Given the description of an element on the screen output the (x, y) to click on. 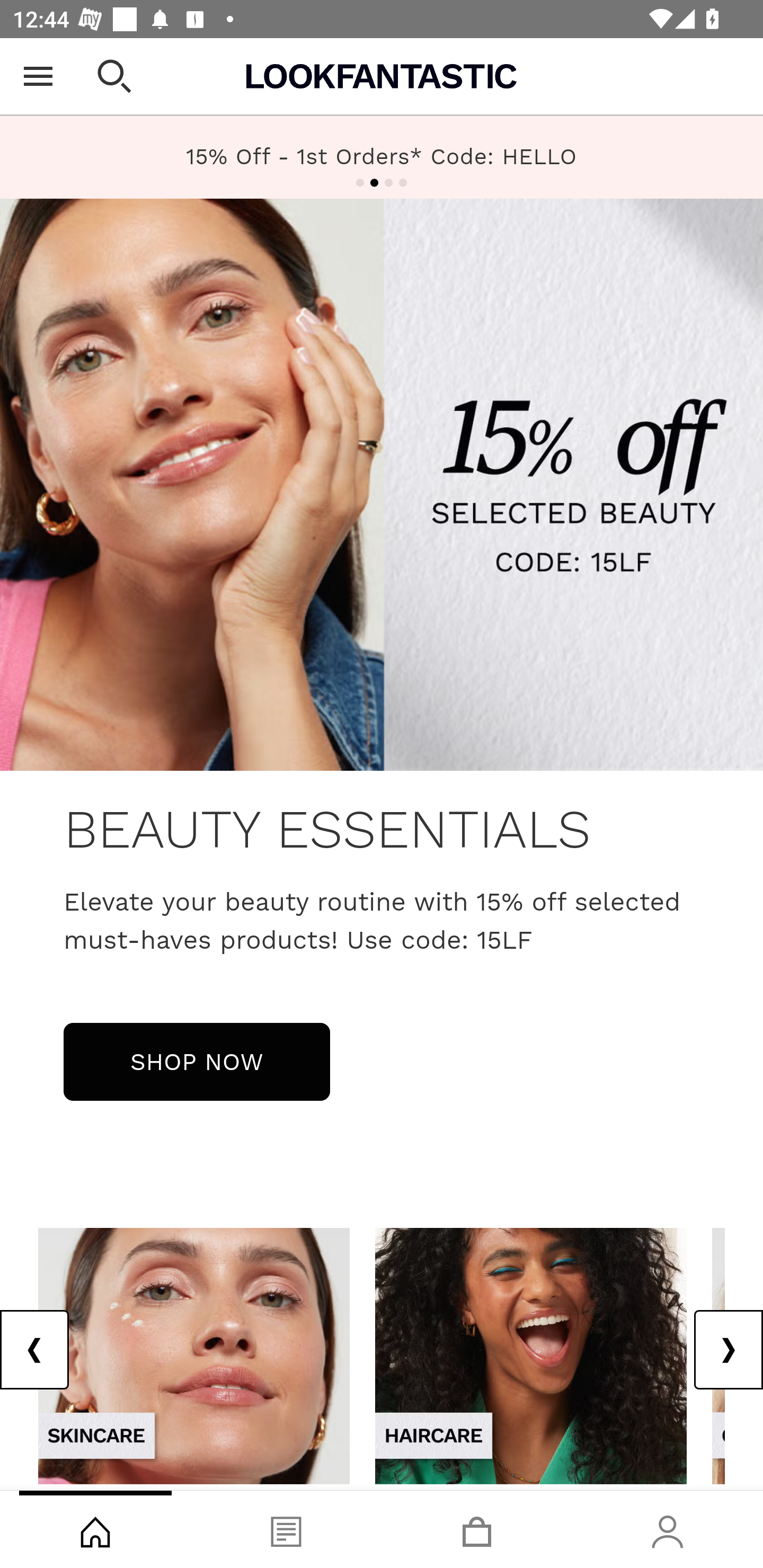
Open Menu (38, 75)
Close search (114, 75)
Lookfantastic USA (381, 75)
SHOP NOW (196, 1061)
view-all (193, 1355)
view-all (530, 1355)
Previous (35, 1349)
Next (727, 1349)
Shop, tab, 1 of 4 (95, 1529)
Blog, tab, 2 of 4 (285, 1529)
Basket, tab, 3 of 4 (476, 1529)
Account, tab, 4 of 4 (667, 1529)
